Given the description of an element on the screen output the (x, y) to click on. 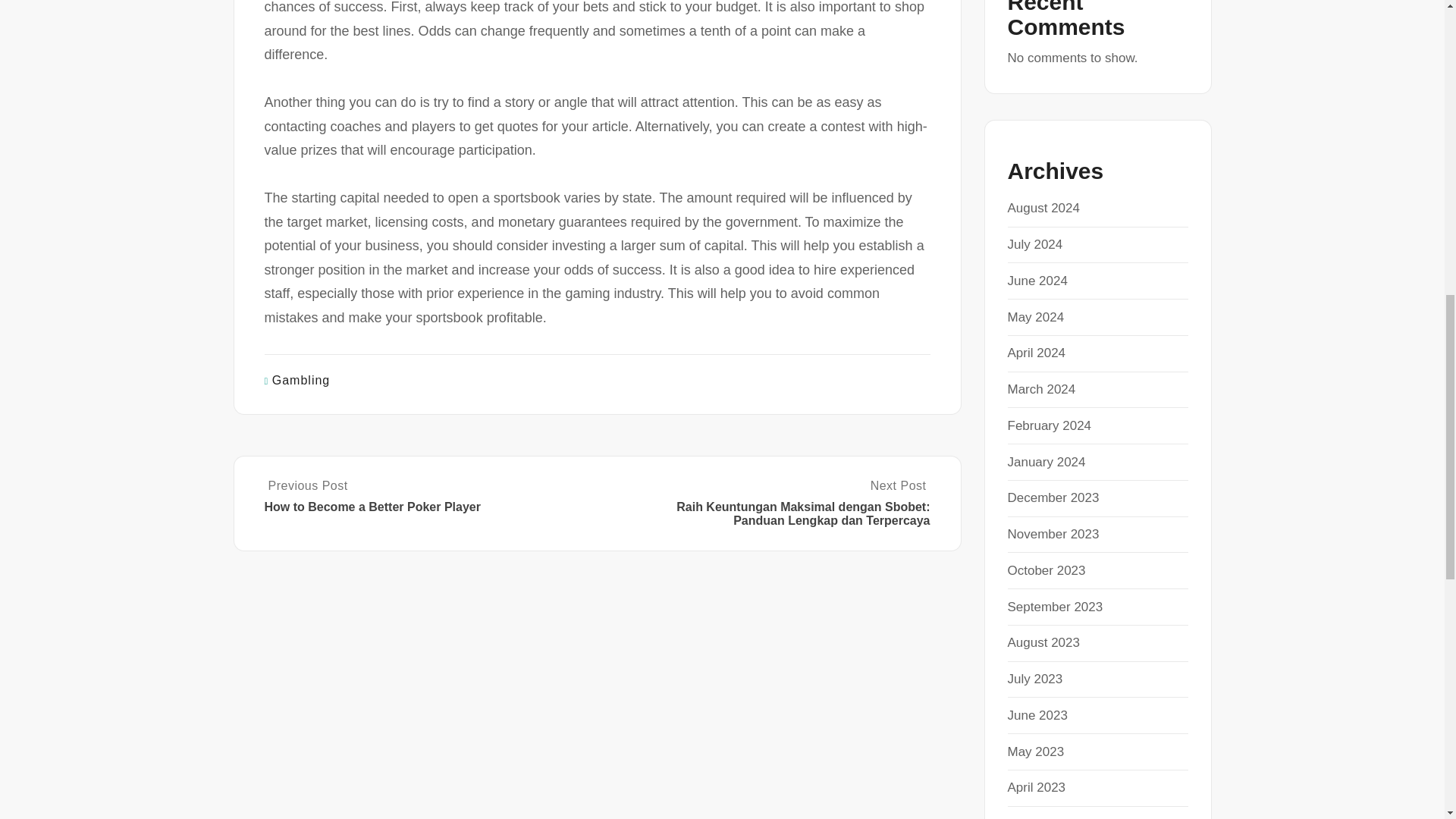
September 2023 (1054, 606)
July 2024 (1034, 244)
Gambling (301, 379)
May 2024 (1035, 317)
May 2023 (1035, 751)
March 2023 (1041, 817)
June 2024 (1037, 280)
February 2024 (1048, 425)
March 2024 (1041, 389)
